Given the description of an element on the screen output the (x, y) to click on. 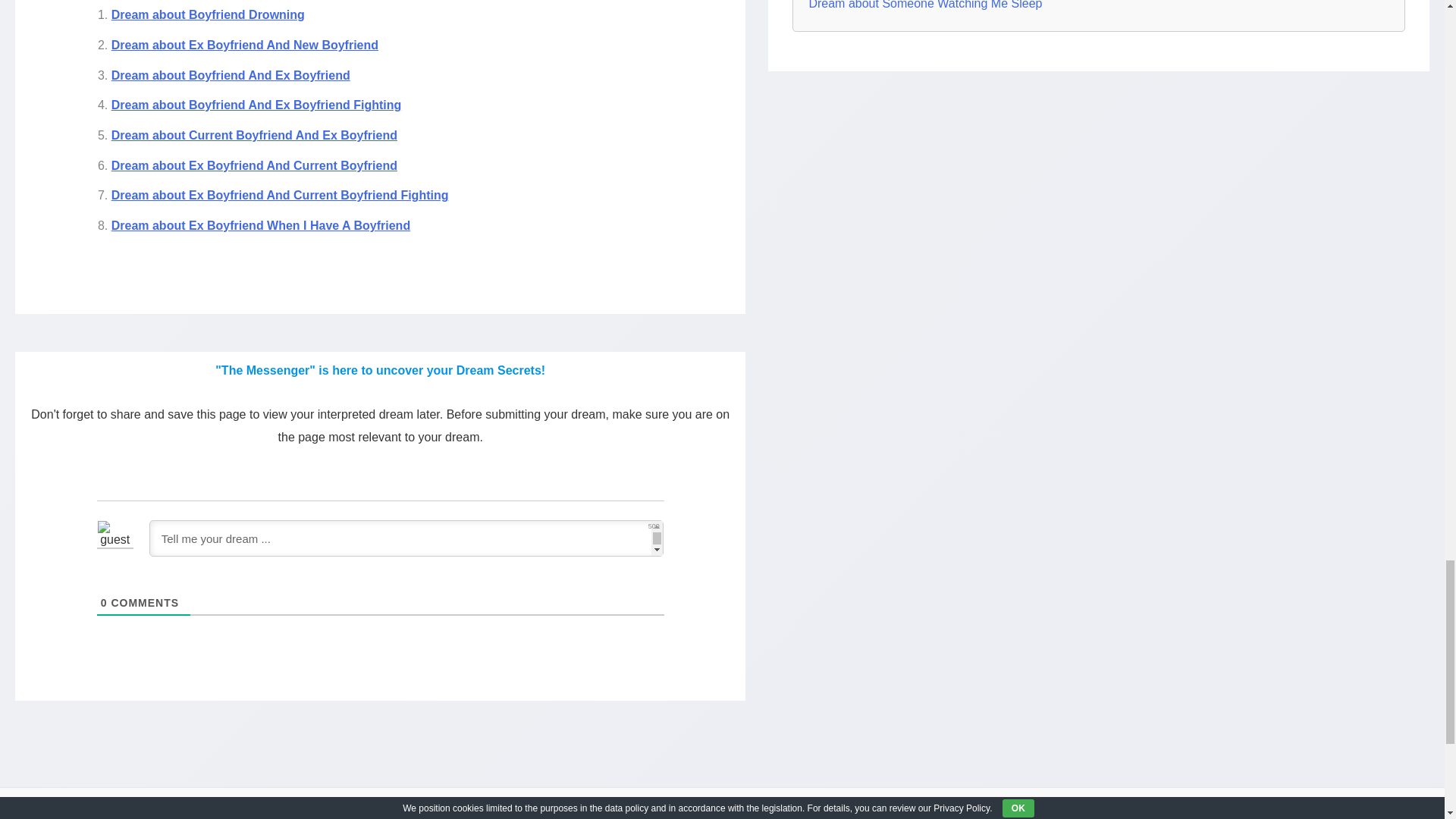
Dream about Boyfriend And Ex Boyfriend Fighting (256, 104)
Dream about Current Boyfriend And Ex Boyfriend (254, 134)
Dream about Ex Boyfriend And Current Boyfriend Fighting (280, 195)
Dream about Someone Watching Me Sleep (925, 7)
Dream about Boyfriend Drowning (208, 14)
Dream about Boyfriend And Ex Boyfriend (231, 74)
Dream about Ex Boyfriend And Current Boyfriend Fighting (280, 195)
Dream about Boyfriend And Ex Boyfriend (231, 74)
Dream about Boyfriend And Ex Boyfriend Fighting (256, 104)
Dream about Current Boyfriend And Ex Boyfriend (254, 134)
Dream about Ex Boyfriend And Current Boyfriend (254, 164)
Dream about Ex Boyfriend When I Have A Boyfriend (261, 225)
Dream about Ex Boyfriend And Current Boyfriend (254, 164)
Dream about Ex Boyfriend And New Boyfriend (245, 44)
Dream about Ex Boyfriend When I Have A Boyfriend (261, 225)
